Given the description of an element on the screen output the (x, y) to click on. 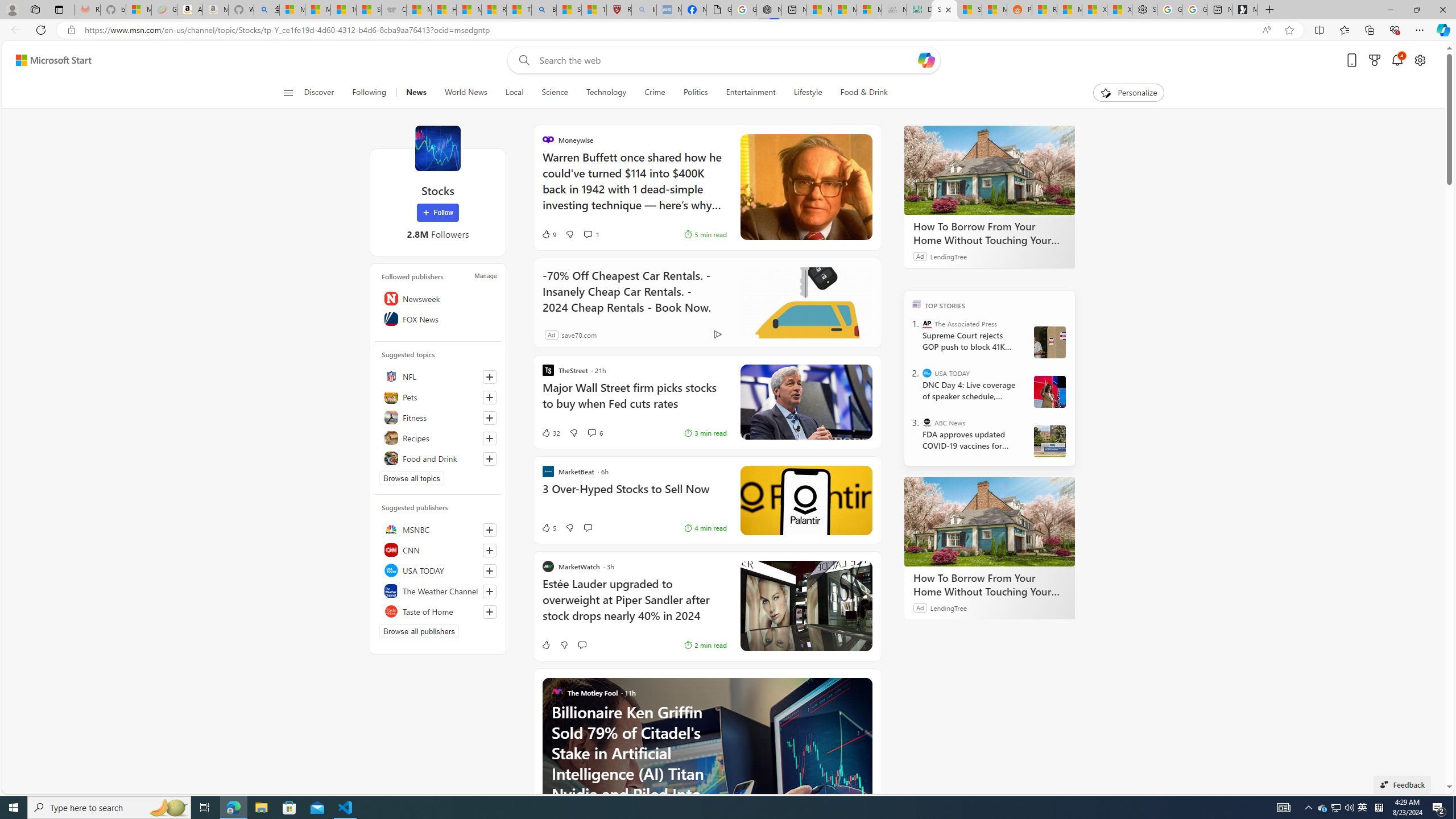
Crime (655, 92)
MSNBC (437, 529)
Follow this topic (489, 459)
save70.com (579, 334)
View comments 1 Comment (587, 234)
Science (554, 92)
Web search (520, 60)
Following (368, 92)
Food & Drink (859, 92)
Stocks - MSN (969, 9)
